Given the description of an element on the screen output the (x, y) to click on. 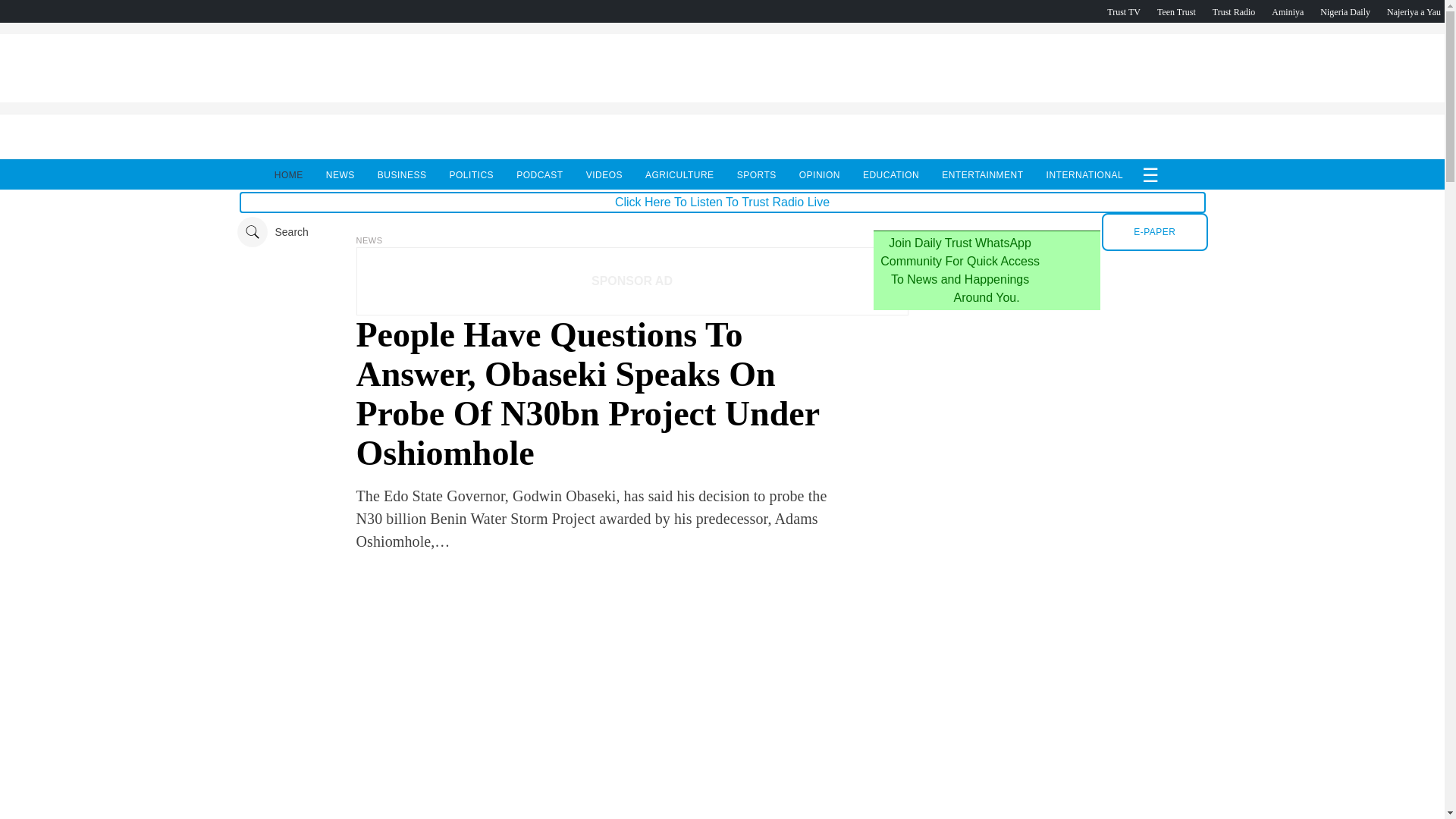
Dailytrust (722, 231)
Trust Radio Live (1233, 11)
News (369, 239)
Teen Trust (1176, 11)
Trust Radio (1233, 11)
Search (271, 232)
Search (271, 232)
OPAY: Contact Us (721, 97)
Trust TV (1123, 11)
Teen Trust (1176, 11)
